Given the description of an element on the screen output the (x, y) to click on. 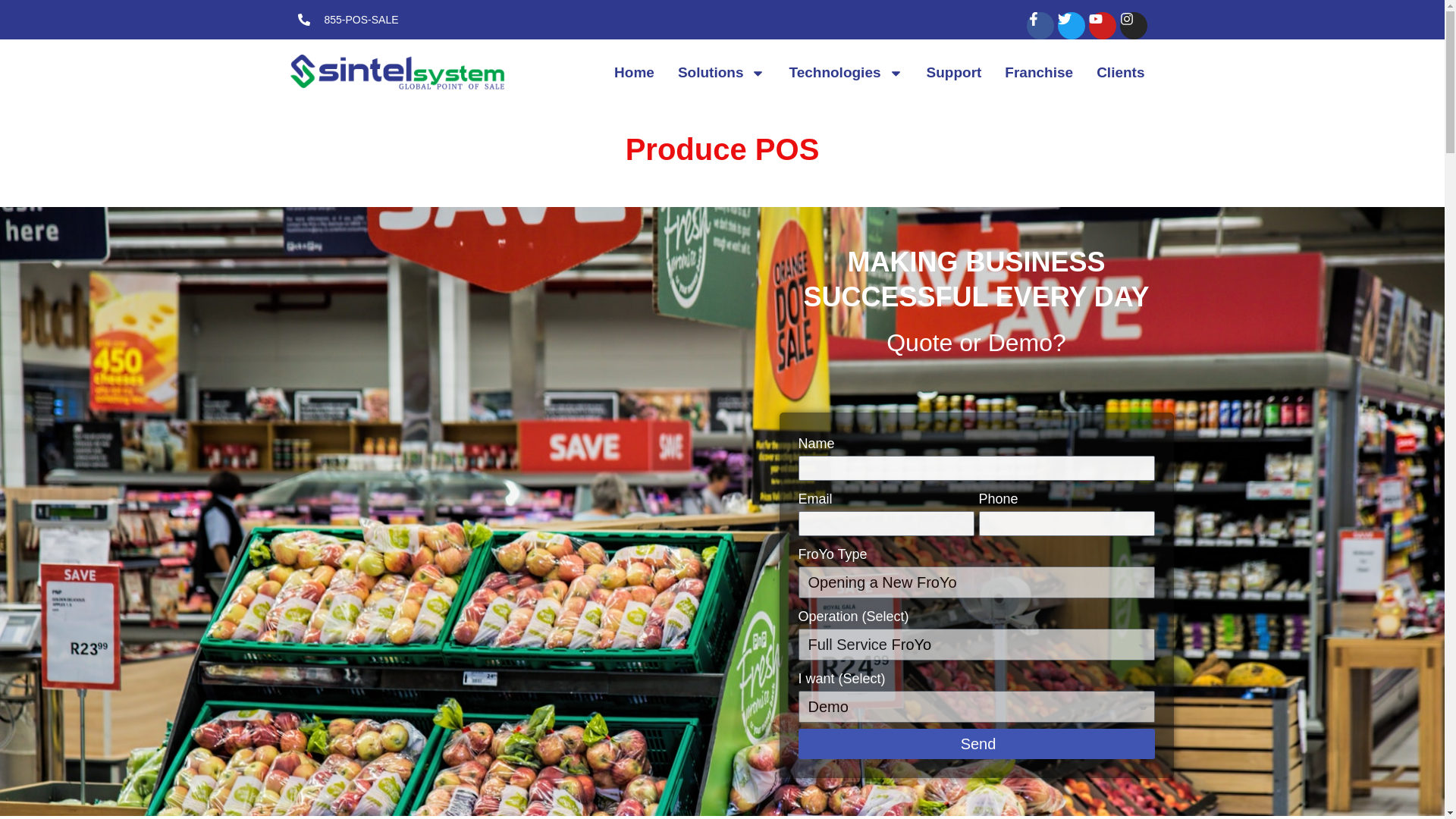
Support (954, 72)
Technologies (845, 72)
Solutions (722, 72)
Instagram (1133, 25)
Twitter (1070, 25)
Franchise (1038, 72)
Facebook-f (1040, 25)
Clients (1120, 72)
Home (633, 72)
Youtube (1102, 25)
855-POS-SALE (347, 19)
